Given the description of an element on the screen output the (x, y) to click on. 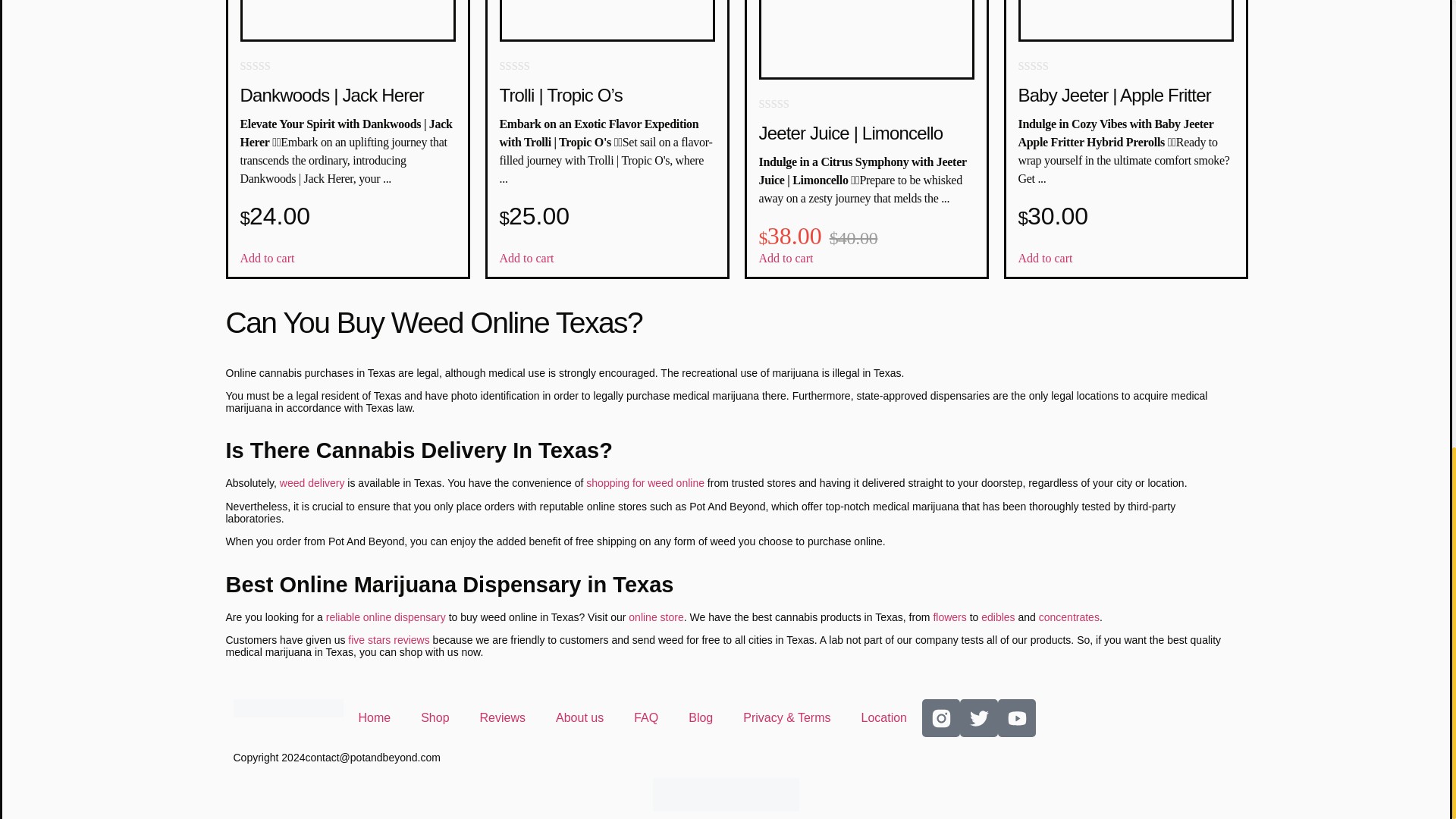
Add to cart (526, 257)
weed delivery (312, 482)
reliable online dispensary (385, 616)
Add to cart (267, 257)
Add to cart (785, 257)
flowers (949, 616)
shopping for weed online (645, 482)
online store (655, 616)
Add to cart (1044, 257)
